Given the description of an element on the screen output the (x, y) to click on. 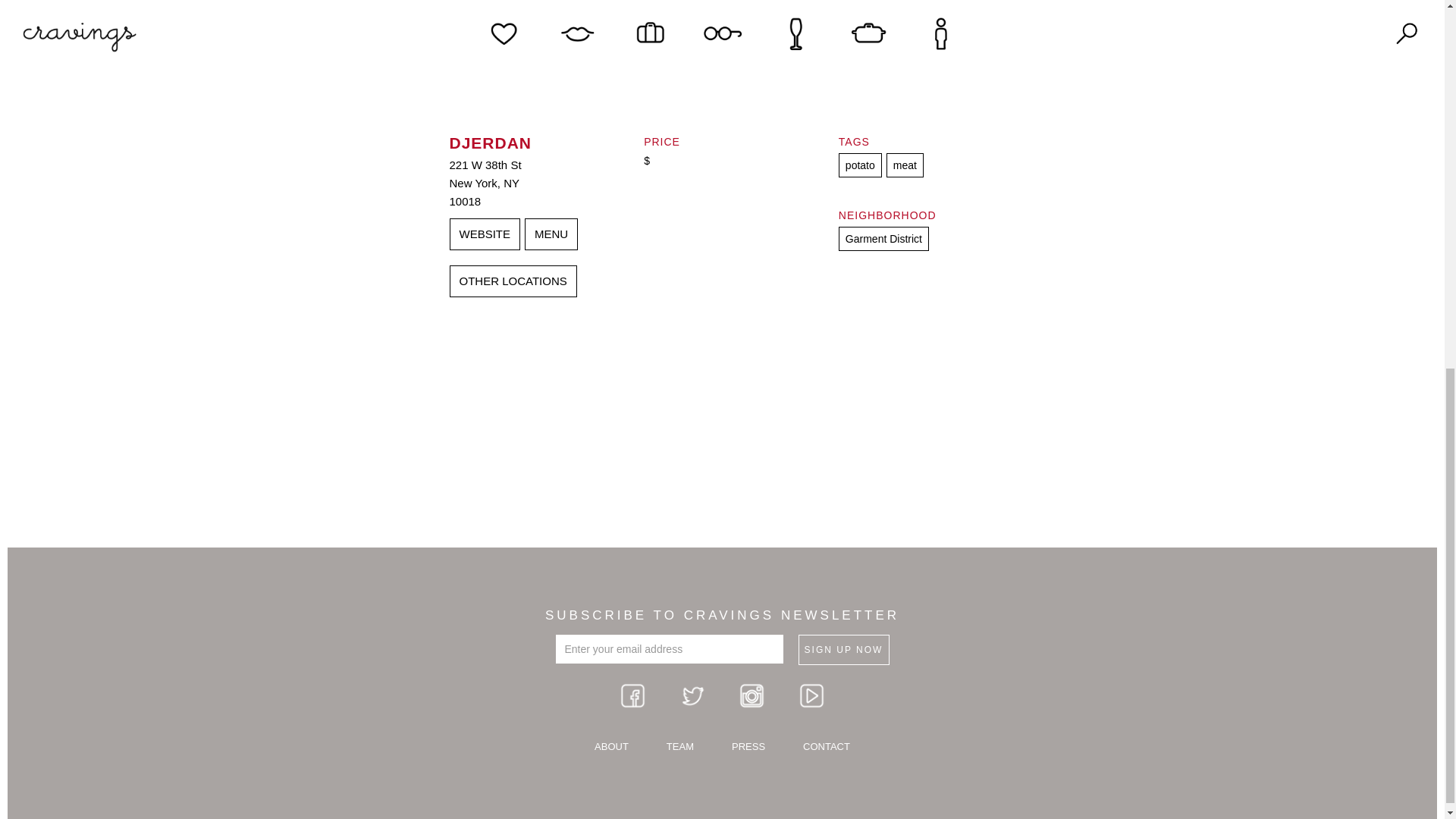
WEBSITE (483, 234)
PRESS (748, 747)
Garment District (883, 238)
potato (860, 165)
ABOUT (611, 747)
meat (904, 165)
MENU (551, 234)
Sign Up Now (842, 649)
CONTACT (826, 747)
Sign Up Now (842, 649)
TEAM (679, 747)
OTHER LOCATIONS (512, 281)
